Given the description of an element on the screen output the (x, y) to click on. 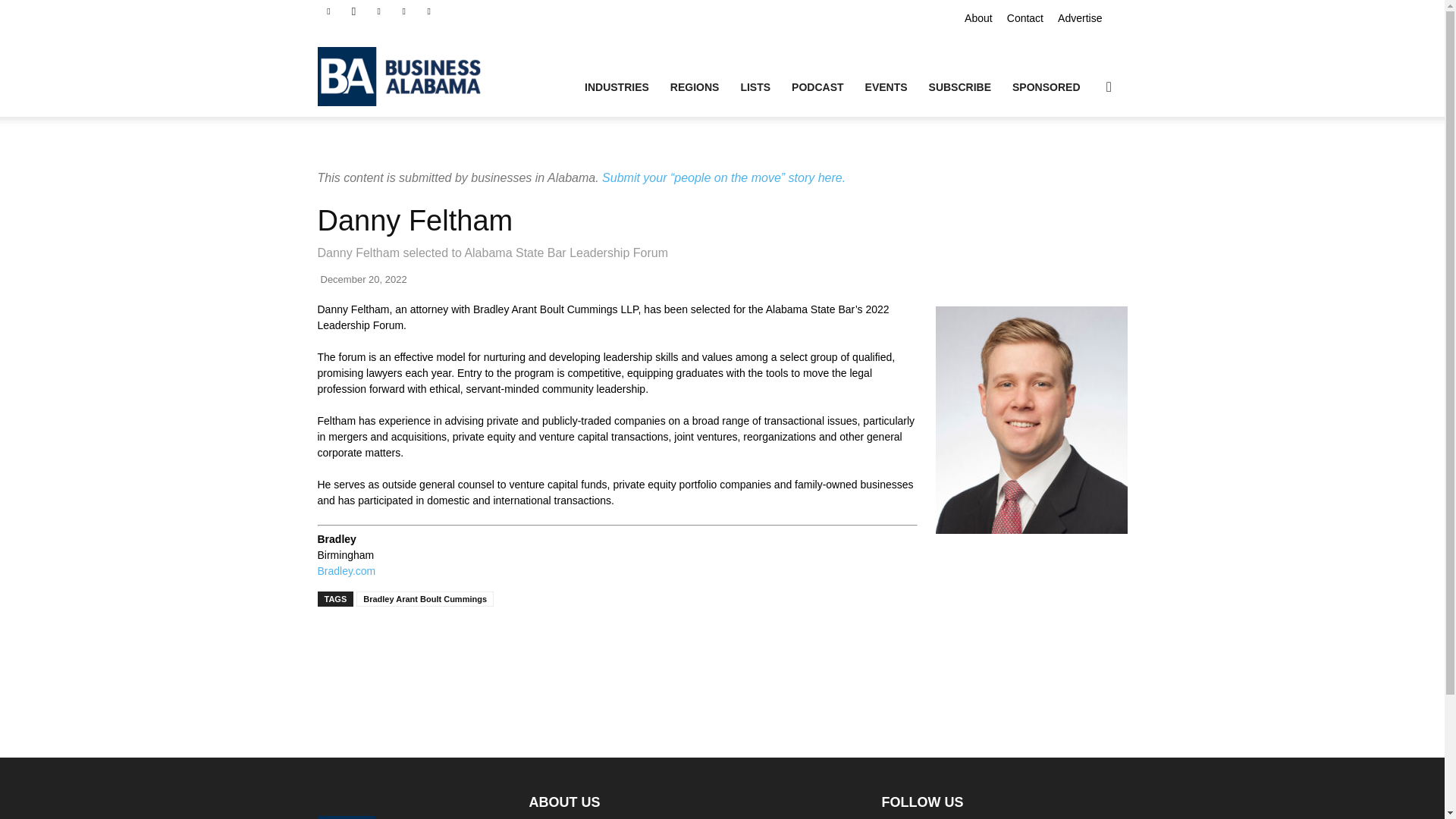
Spotify (403, 10)
Instagram (353, 10)
Linkedin (379, 10)
Twitter (429, 10)
Business Alabama Magazine (406, 76)
Facebook (328, 10)
